Given the description of an element on the screen output the (x, y) to click on. 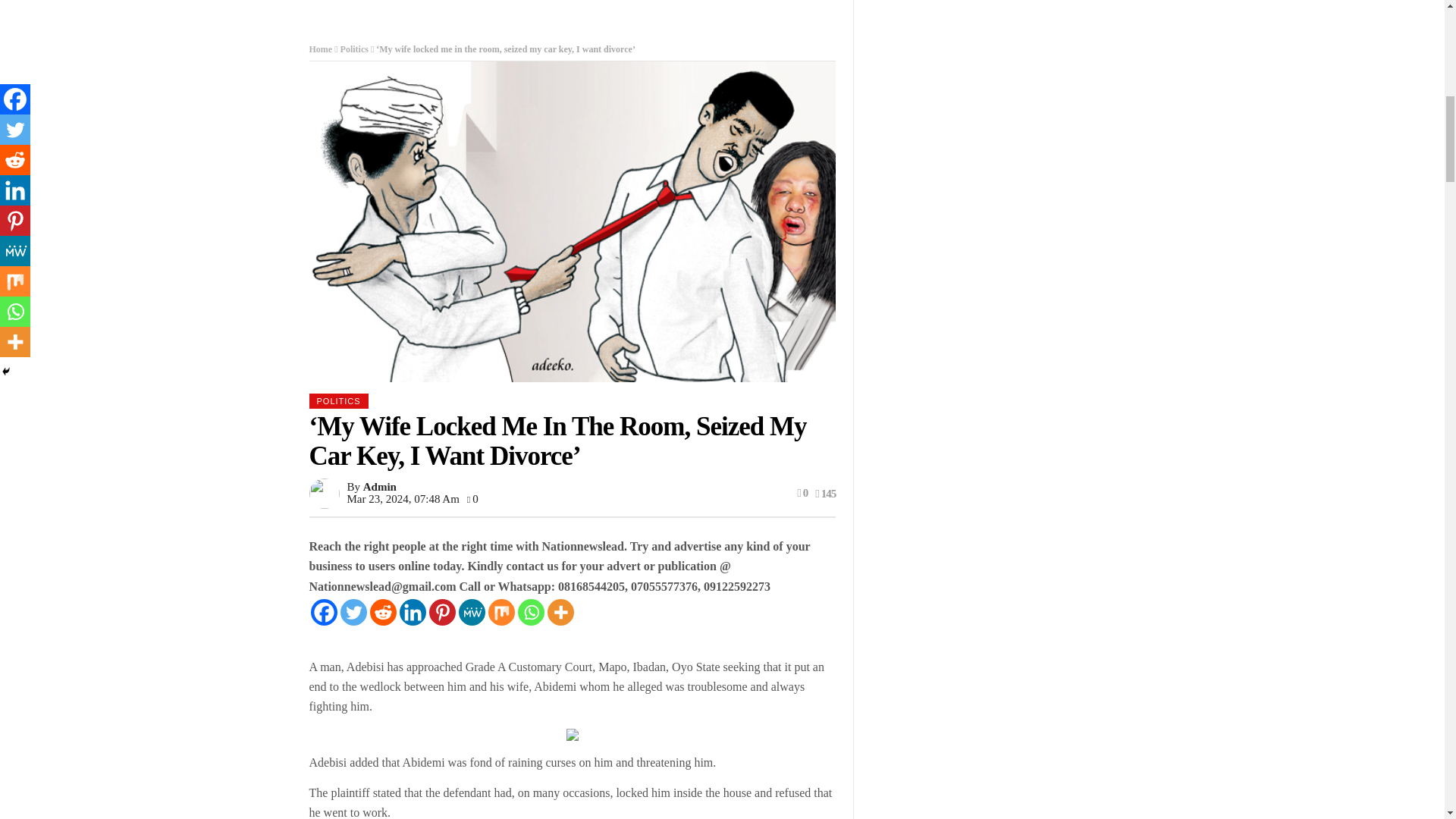
0 (473, 499)
Home (320, 49)
Whatsapp (529, 611)
Facebook (324, 611)
Mix (501, 611)
POLITICS (338, 400)
Posts by admin (379, 486)
Twitter (352, 611)
Pinterest (442, 611)
Admin (379, 486)
